Given the description of an element on the screen output the (x, y) to click on. 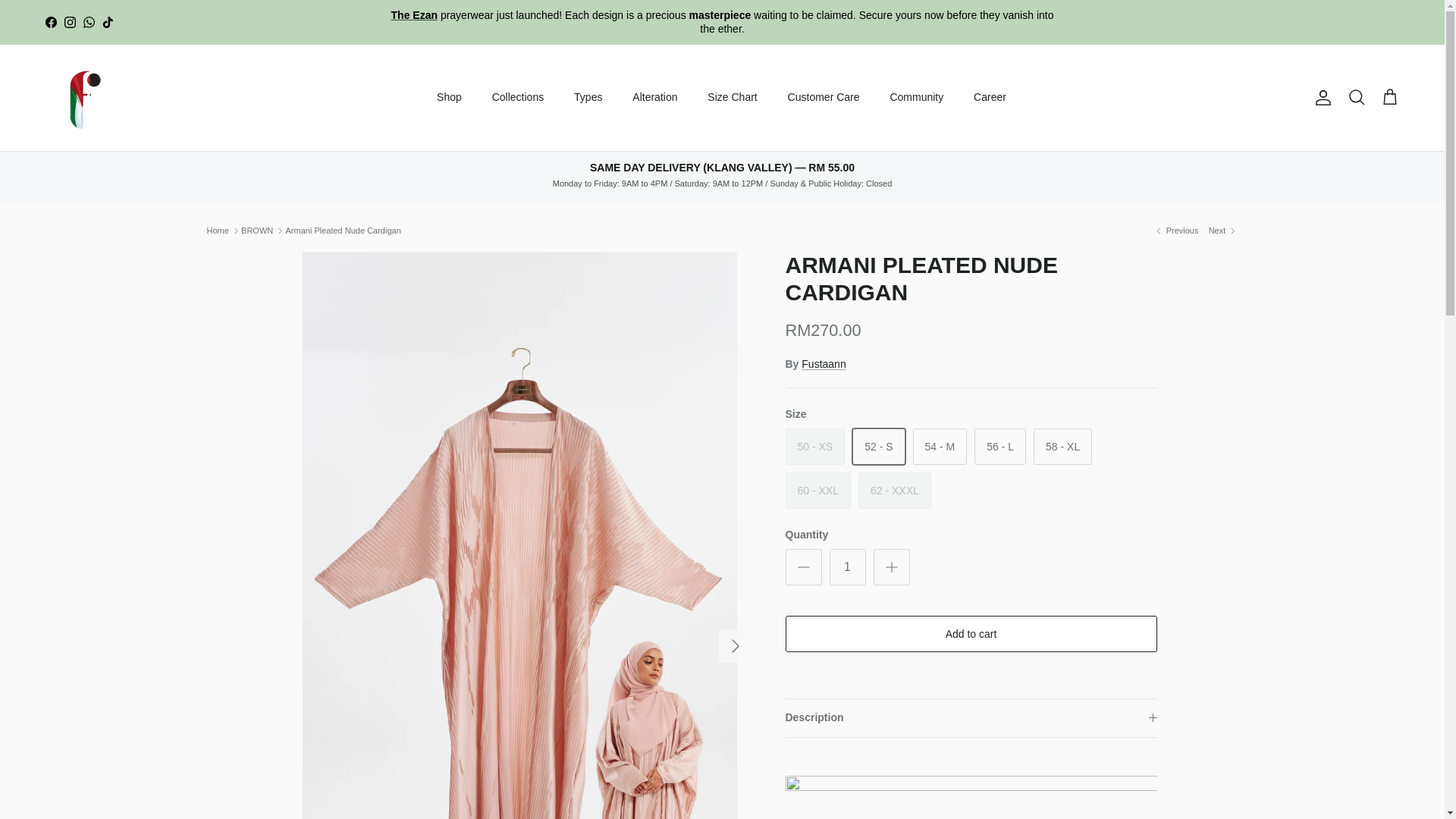
1 (847, 566)
Facebook (50, 21)
Career (989, 97)
TikTok (107, 21)
Irdina Beige Abaya (1223, 231)
Community (916, 97)
Cart (1389, 97)
Sold out (895, 490)
Sold out (815, 446)
Account (1319, 97)
